Given the description of an element on the screen output the (x, y) to click on. 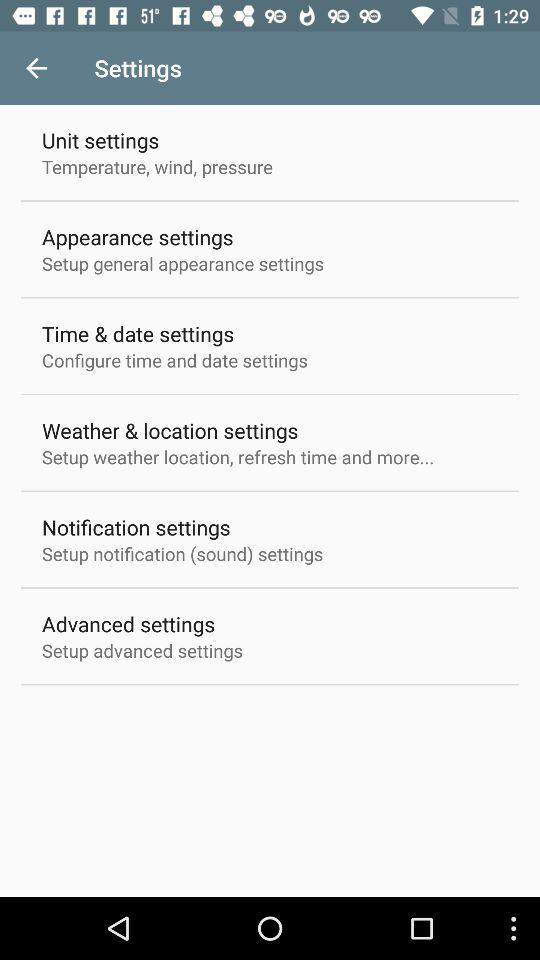
select unit settings item (100, 139)
